Given the description of an element on the screen output the (x, y) to click on. 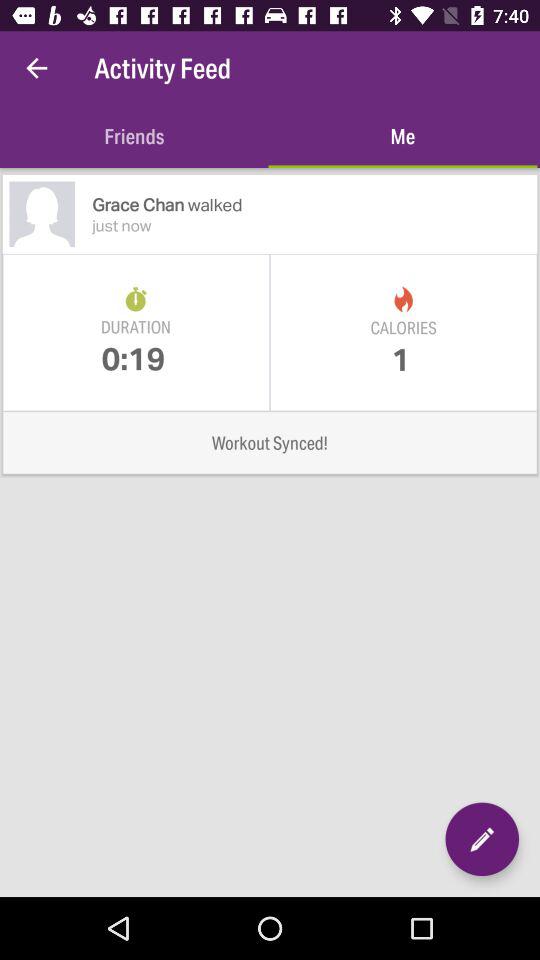
turn off the item next to grace chan walked (42, 214)
